Given the description of an element on the screen output the (x, y) to click on. 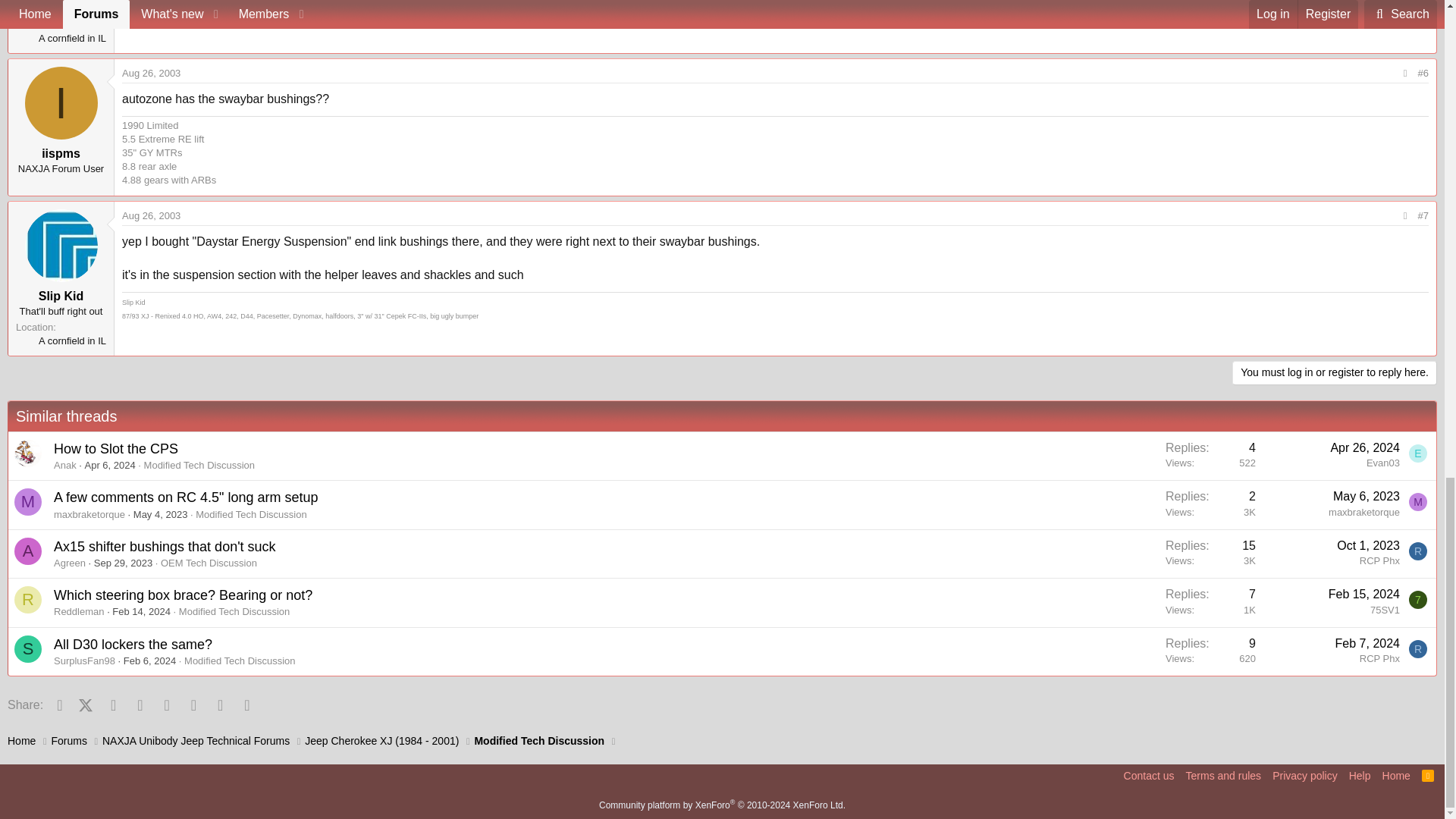
Apr 6, 2024 at 12:49 AM (109, 464)
May 6, 2023 at 5:40 AM (1366, 495)
First message reaction score: 1 (1210, 455)
Sep 29, 2023 at 4:10 AM (123, 562)
Apr 26, 2024 at 4:30 PM (1364, 447)
May 4, 2023 at 5:57 PM (160, 514)
Aug 26, 2003 at 2:23 AM (151, 72)
First message reaction score: 0 (1210, 553)
Aug 26, 2003 at 6:23 AM (151, 215)
First message reaction score: 0 (1210, 504)
